Given the description of an element on the screen output the (x, y) to click on. 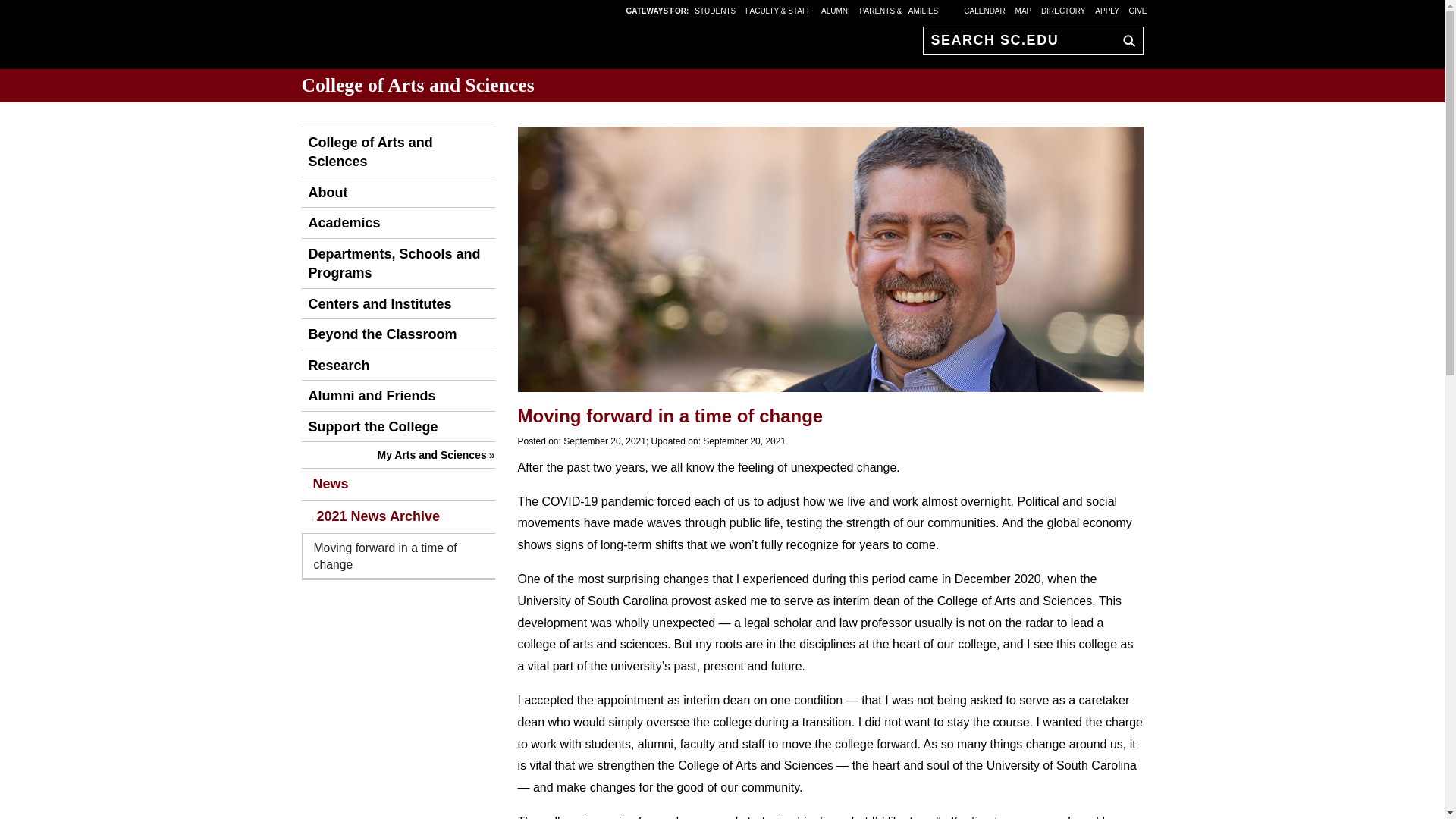
GO (1125, 40)
ALUMNI (835, 9)
sc.edu Search (1125, 40)
MAP (1023, 9)
CALENDAR (983, 9)
College of Arts and Sciences (417, 85)
GO (1125, 40)
University of South Carolina Home (396, 38)
STUDENTS (716, 9)
College of Arts and Sciences (398, 151)
